Given the description of an element on the screen output the (x, y) to click on. 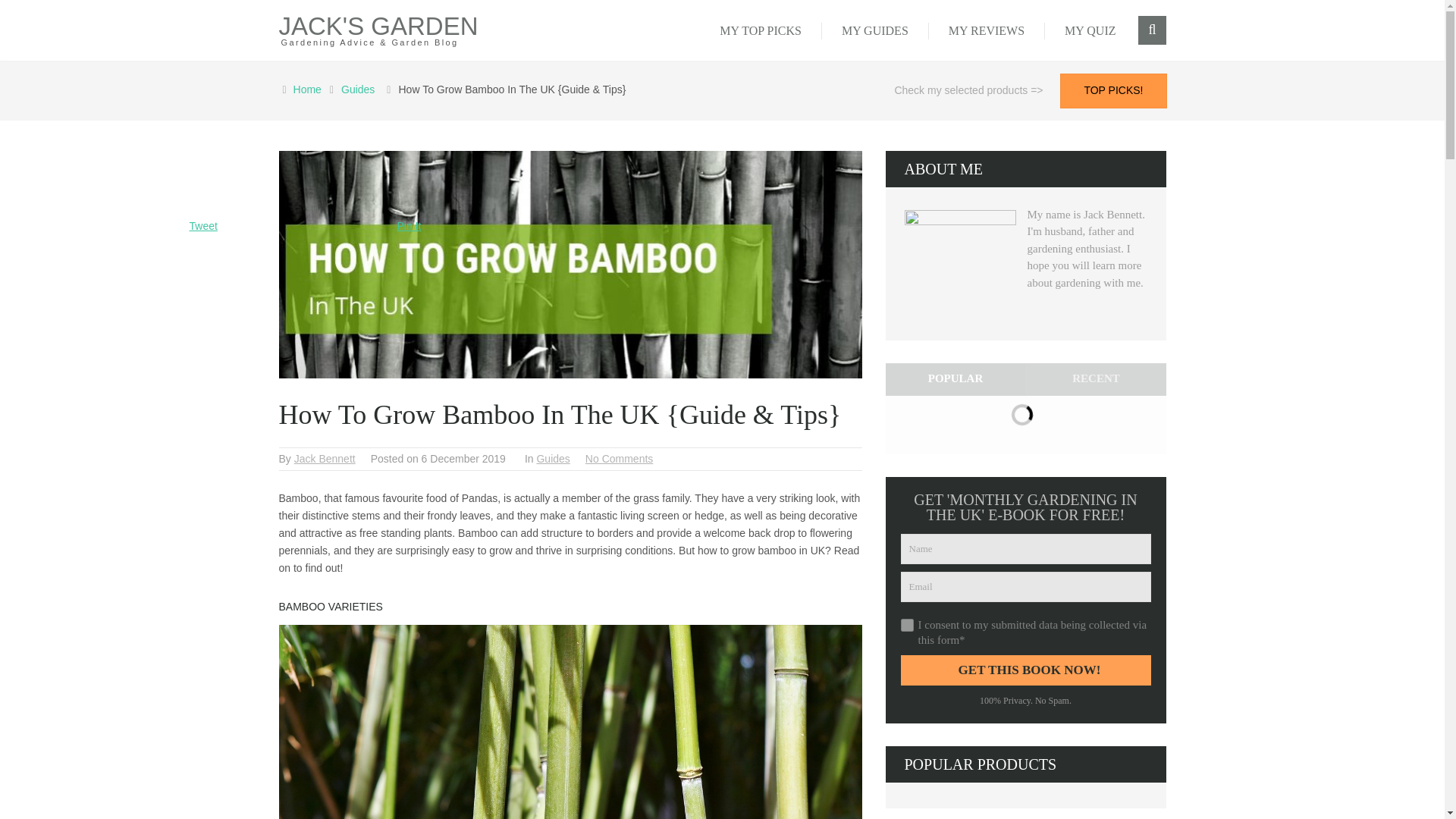
My Top Picks (761, 30)
MY QUIZ (1090, 30)
Get this book now! (1026, 670)
Gardening Quiz: Questions And Answers (1090, 30)
MY GUIDES (875, 30)
View all posts in Guides (552, 458)
MY TOP PICKS (761, 30)
MY REVIEWS (986, 30)
Pin It (409, 225)
My Reviews (986, 30)
JACK'S GARDEN (379, 25)
TOP PICKS! (1113, 90)
Posts by Jack Bennett (324, 458)
My Guides (875, 30)
POPULAR (955, 379)
